Given the description of an element on the screen output the (x, y) to click on. 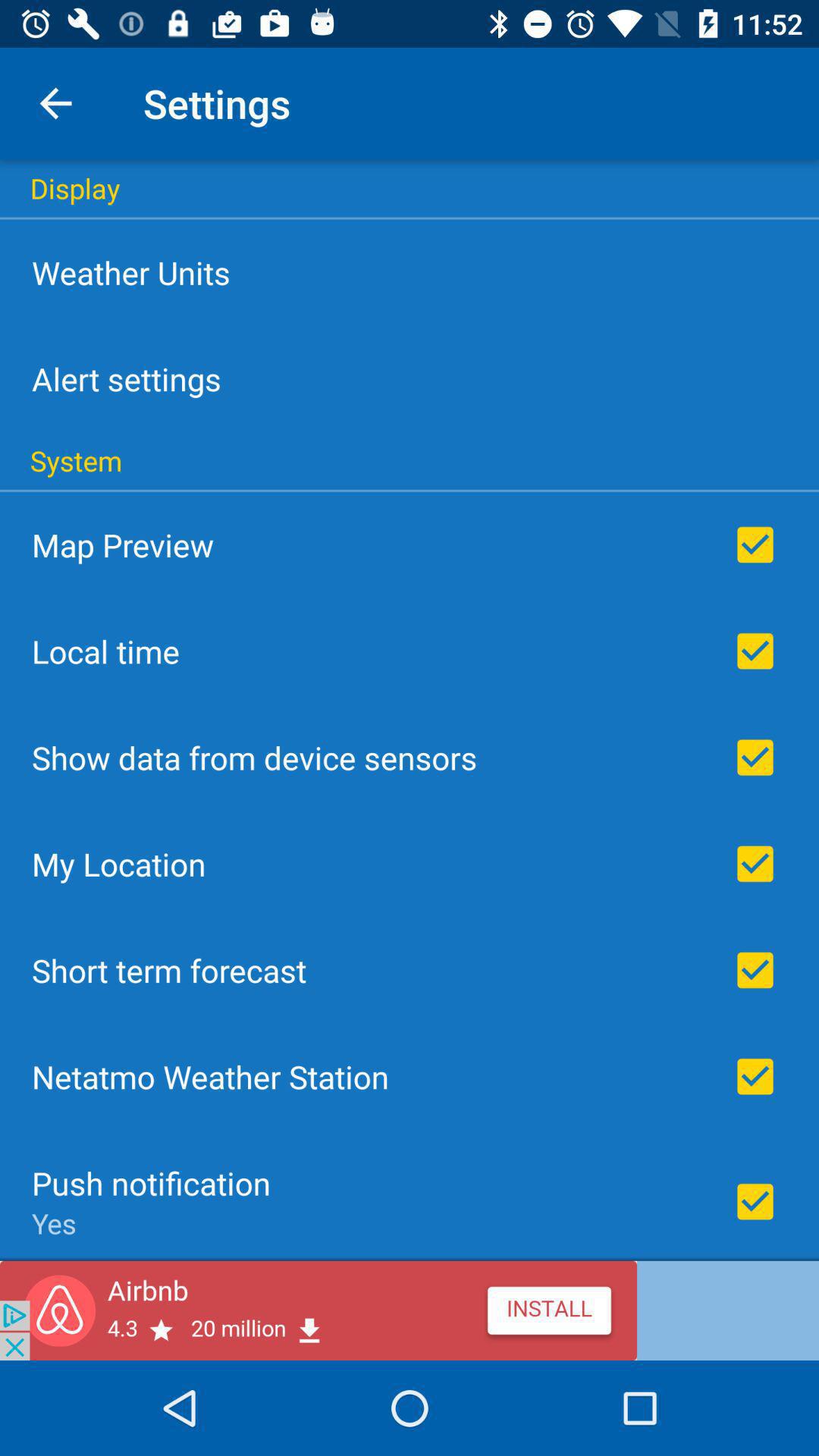
go to advertisement link (409, 1310)
